Given the description of an element on the screen output the (x, y) to click on. 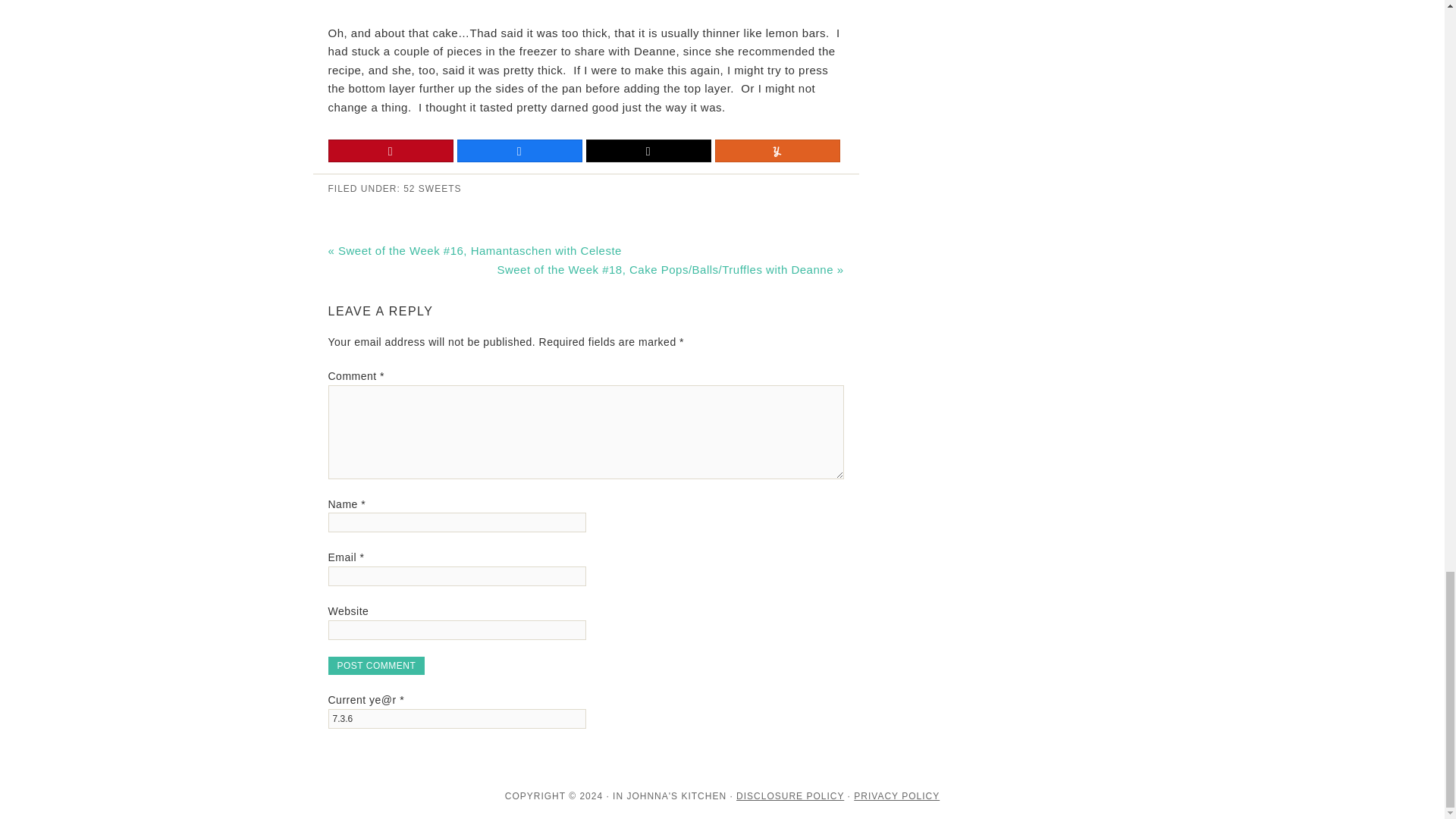
7.3.6 (456, 718)
52 SWEETS (432, 188)
Post Comment (376, 665)
Post Comment (376, 665)
